Given the description of an element on the screen output the (x, y) to click on. 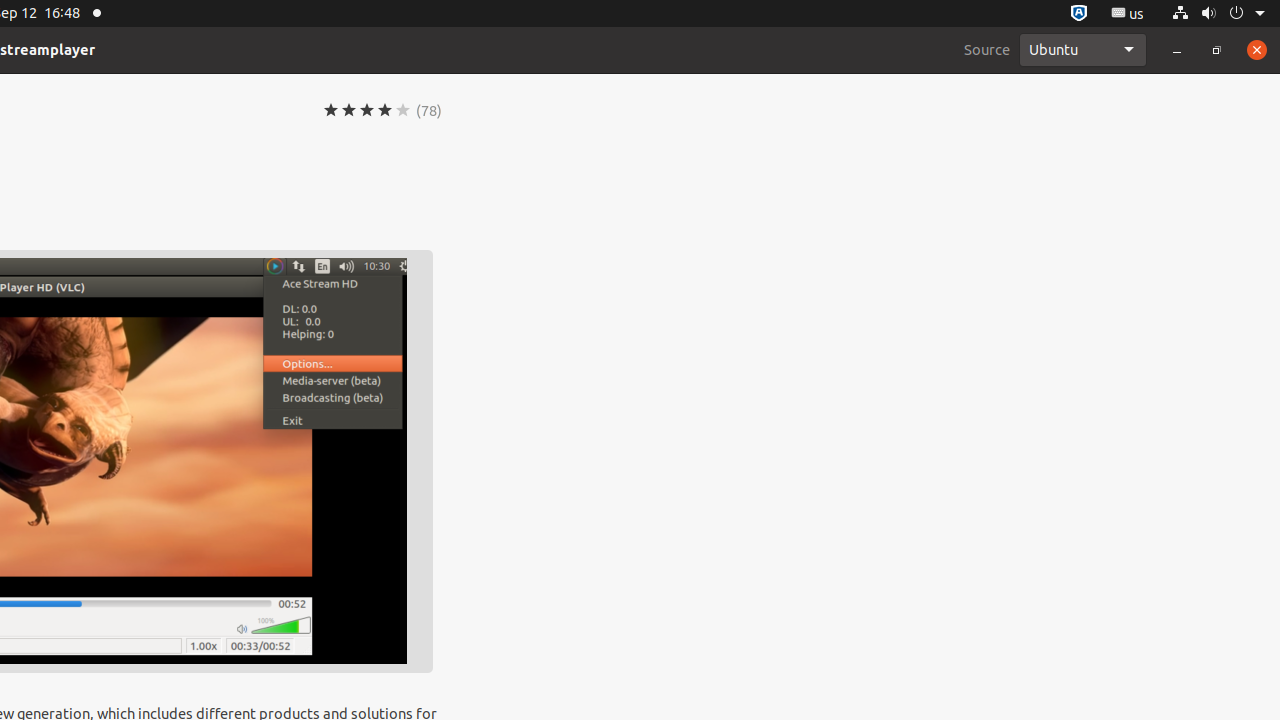
(78) Element type: label (429, 110)
Minimize Element type: push-button (1177, 50)
